Given the description of an element on the screen output the (x, y) to click on. 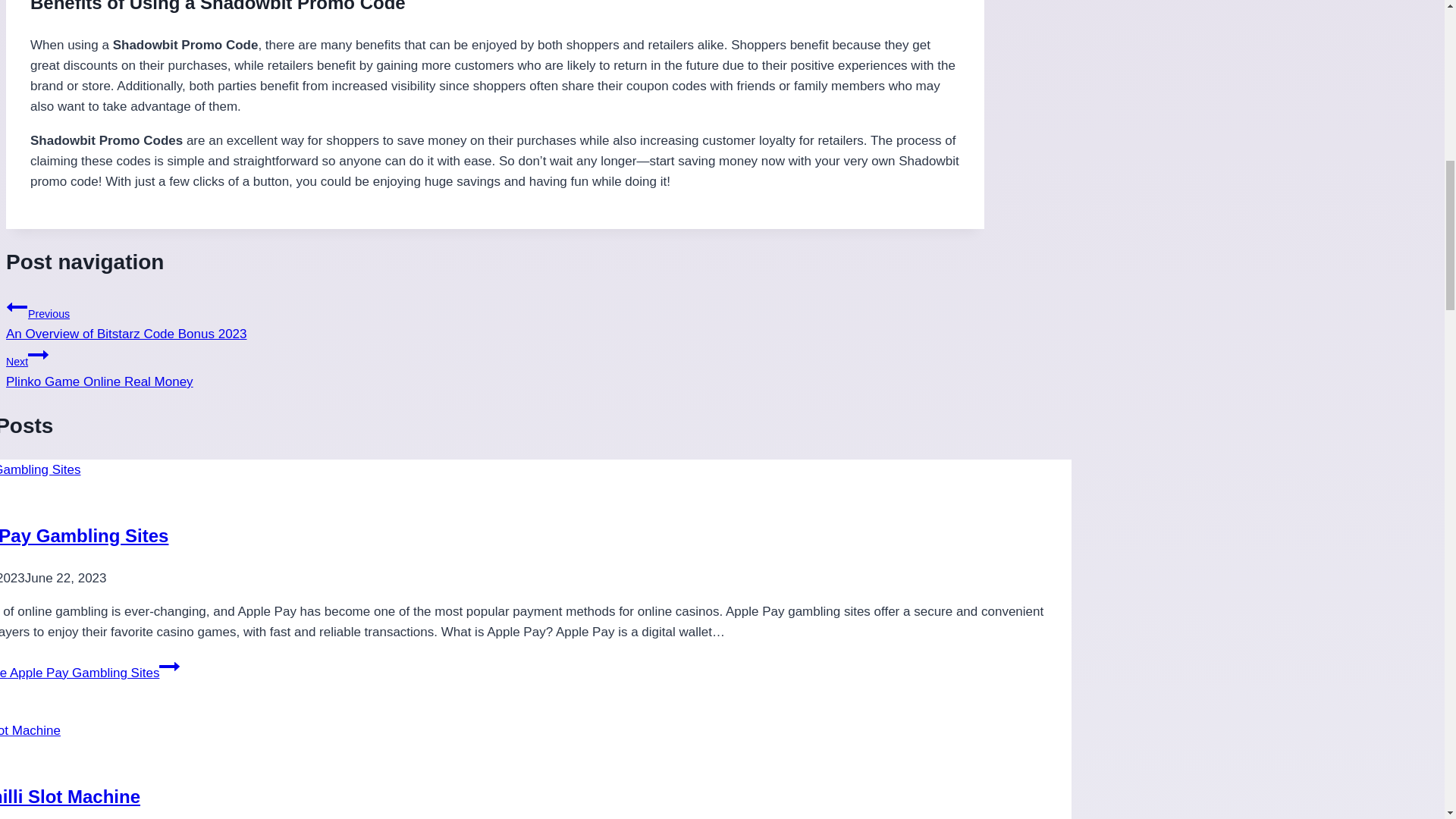
Continue (168, 665)
Previous (16, 306)
Read More Apple Pay Gambling SitesContinue (89, 672)
Apple Pay Gambling Sites (84, 535)
Continue (37, 354)
Hot Chilli Slot Machine (69, 796)
